Given the description of an element on the screen output the (x, y) to click on. 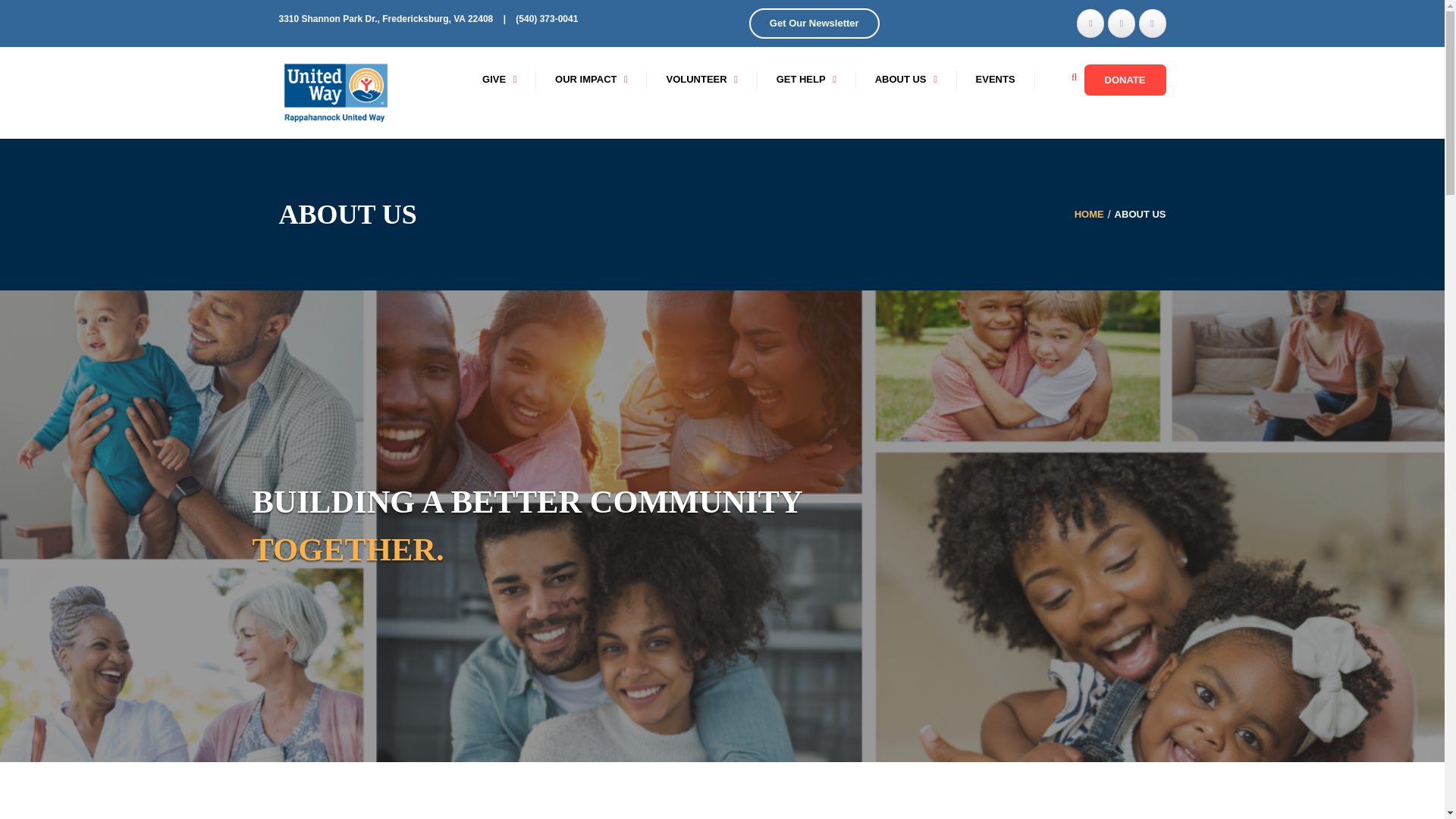
Home (1088, 214)
Rappahannock United Way - Making a Difference (336, 91)
Rappahannock United Way on X Twitter (1090, 23)
Rappahannock United Way on Facebook (1121, 23)
Rappahannock United Way on Instagram (1152, 23)
